Given the description of an element on the screen output the (x, y) to click on. 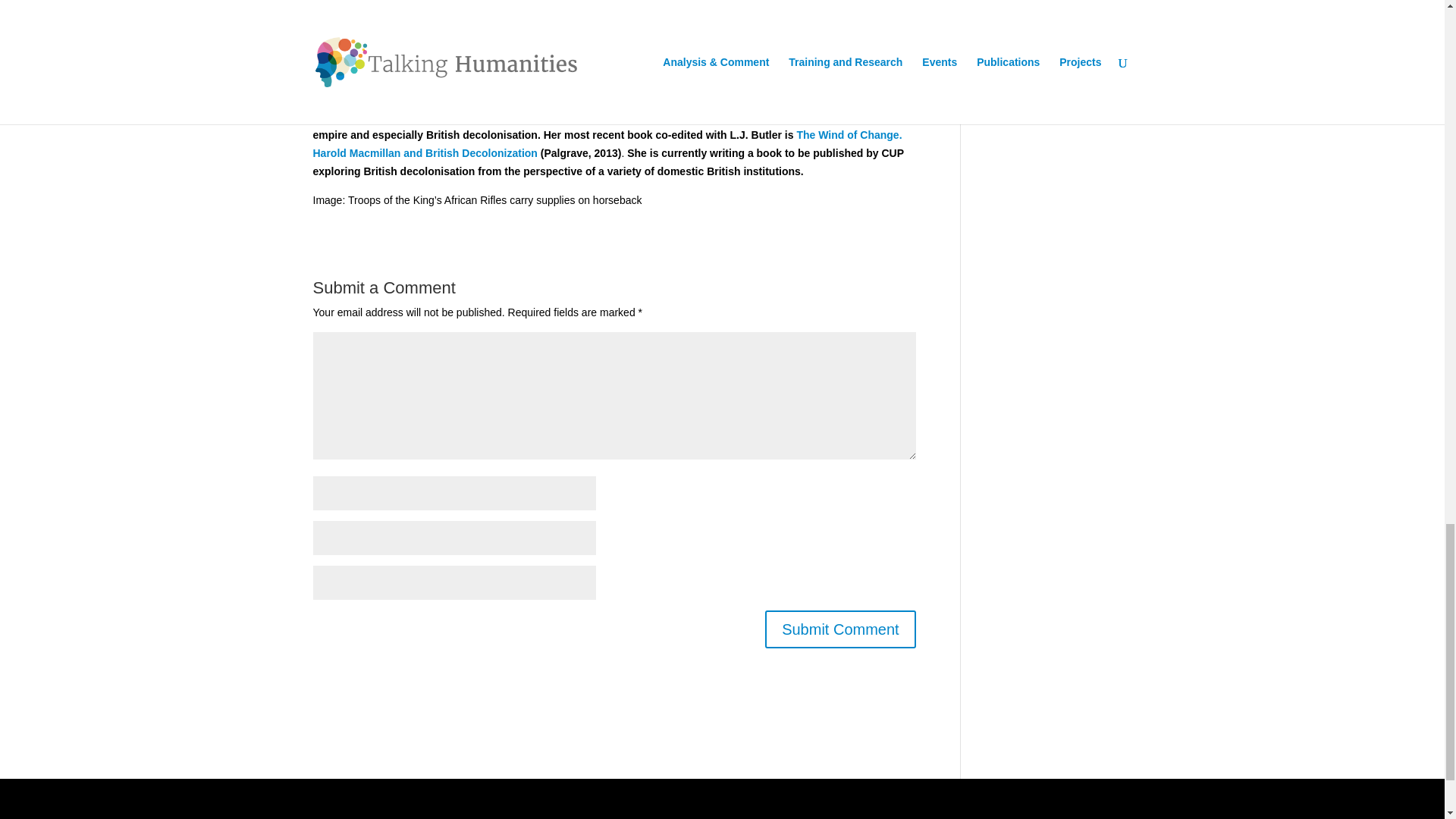
Submit Comment (840, 629)
Dr Sarah Stockwell (361, 117)
Submit Comment (840, 629)
